Given the description of an element on the screen output the (x, y) to click on. 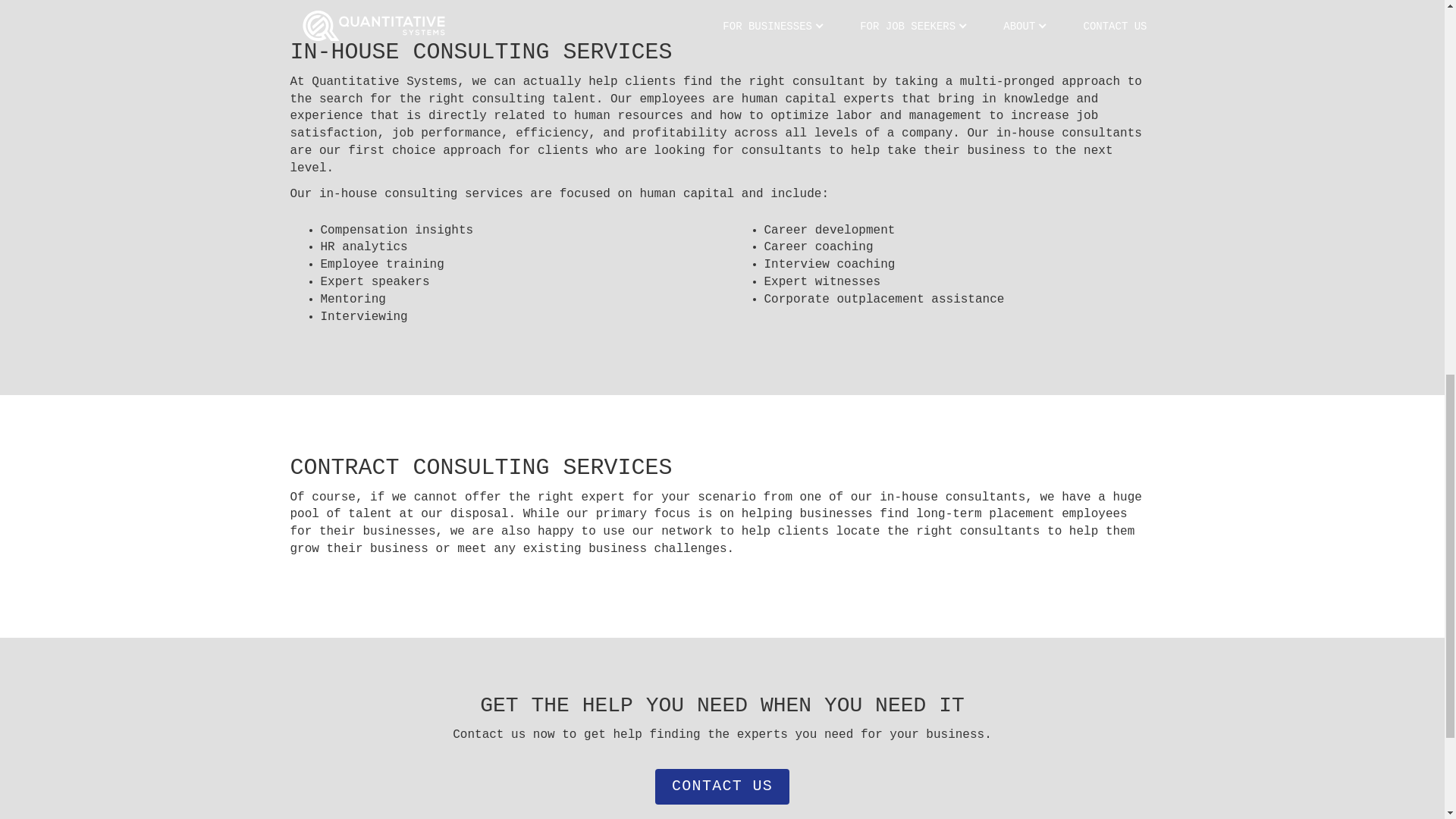
CONTACT US (722, 786)
